Given the description of an element on the screen output the (x, y) to click on. 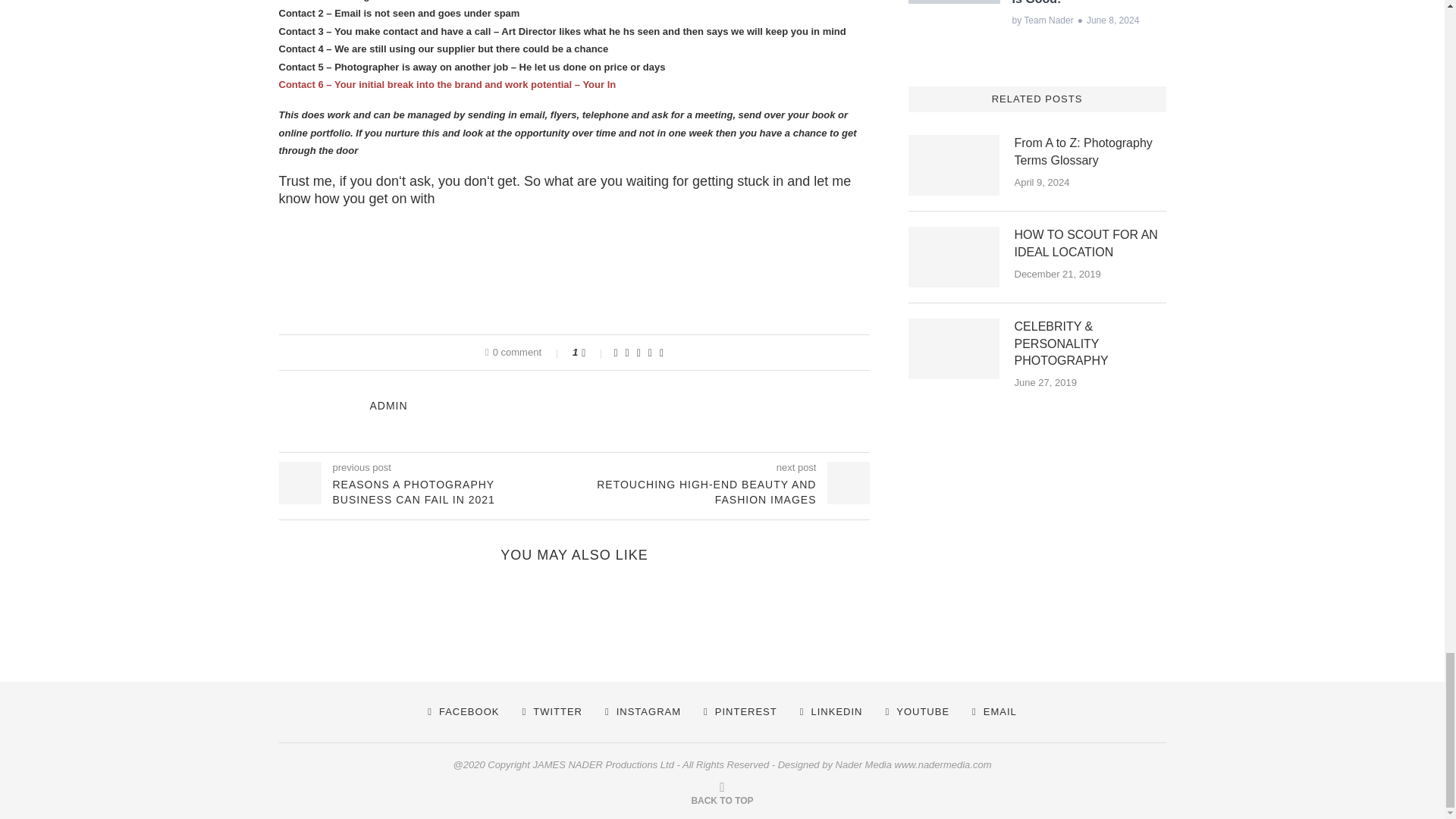
Like (592, 352)
HOW TO SCOUT FOR AN IDEAL LOCATION (953, 256)
From A to Z: Photography Terms Glossary (1090, 151)
From A to Z: Photography Terms Glossary (953, 165)
Posts by admin (388, 405)
